Given the description of an element on the screen output the (x, y) to click on. 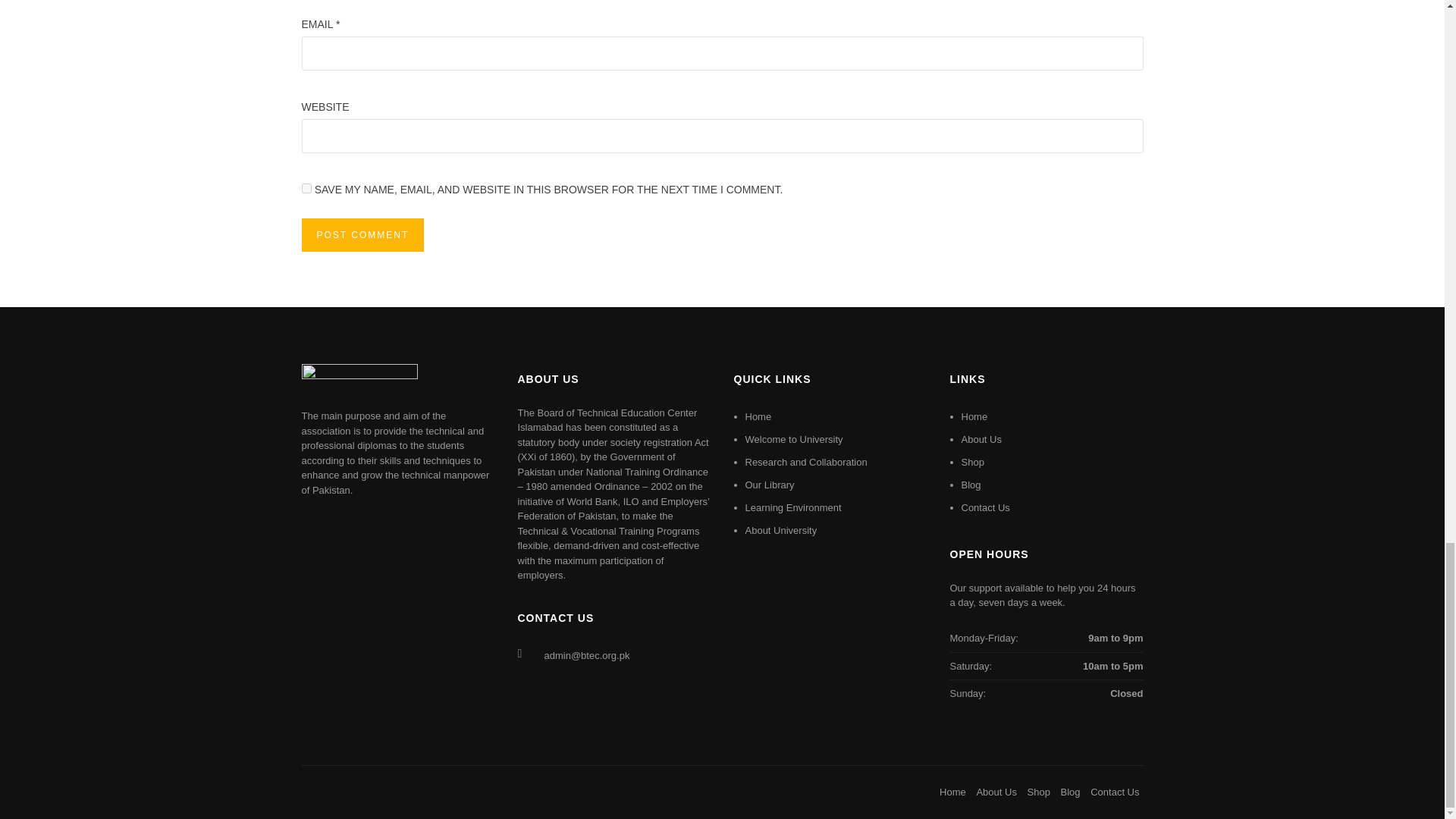
Our Library (768, 484)
Home (757, 416)
Post Comment (363, 234)
Home (952, 791)
Welcome to University (793, 439)
Shop (972, 461)
About Us (995, 791)
Contact Us (985, 507)
Home (974, 416)
Learning Environment (792, 507)
yes (306, 188)
Shop (1038, 791)
Research and Collaboration (805, 461)
About Us (980, 439)
Post Comment (363, 234)
